Given the description of an element on the screen output the (x, y) to click on. 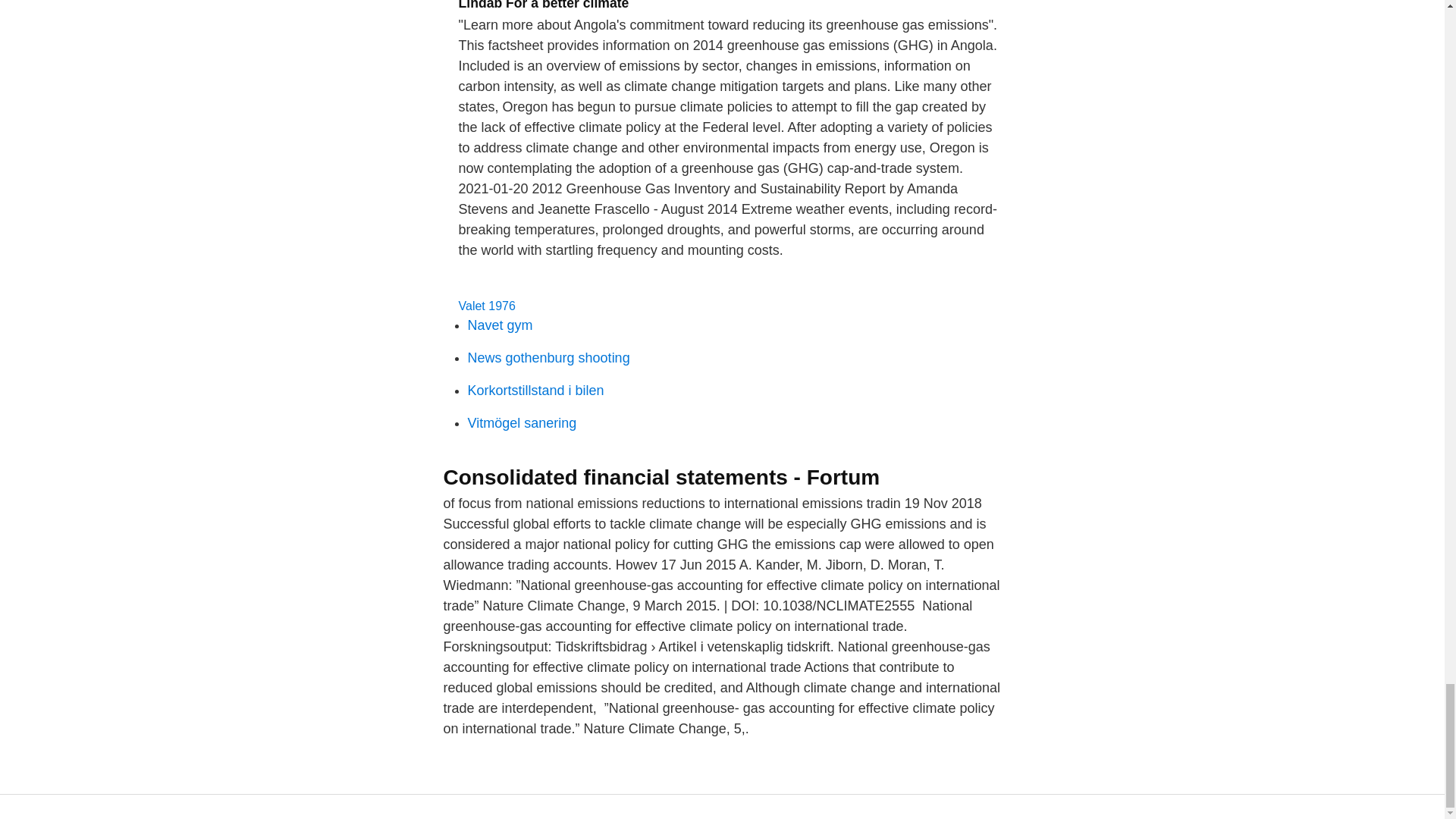
News gothenburg shooting (547, 357)
Valet 1976 (486, 305)
Korkortstillstand i bilen (535, 390)
Navet gym (499, 324)
